Given the description of an element on the screen output the (x, y) to click on. 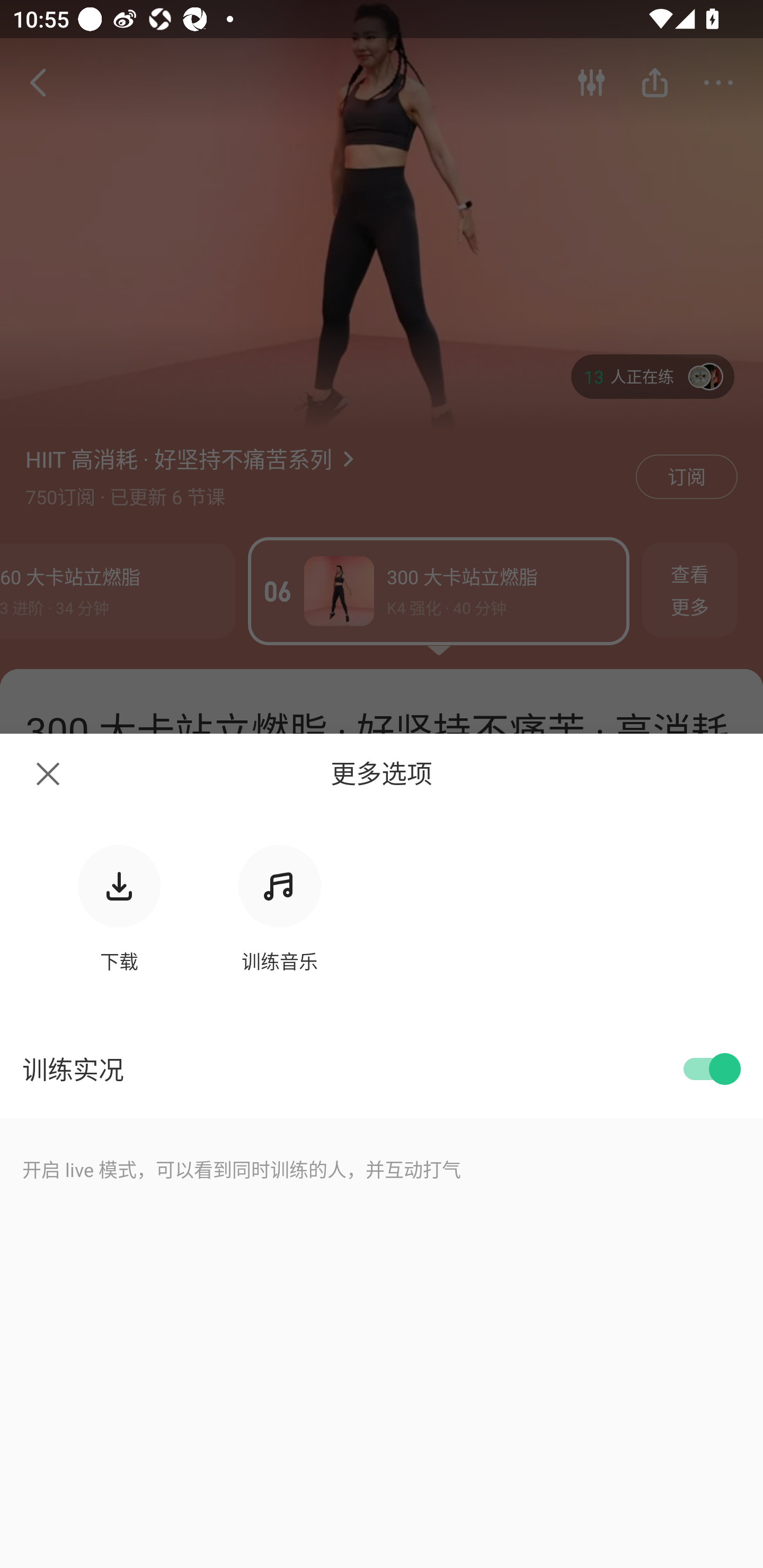
ON (708, 1069)
